Given the description of an element on the screen output the (x, y) to click on. 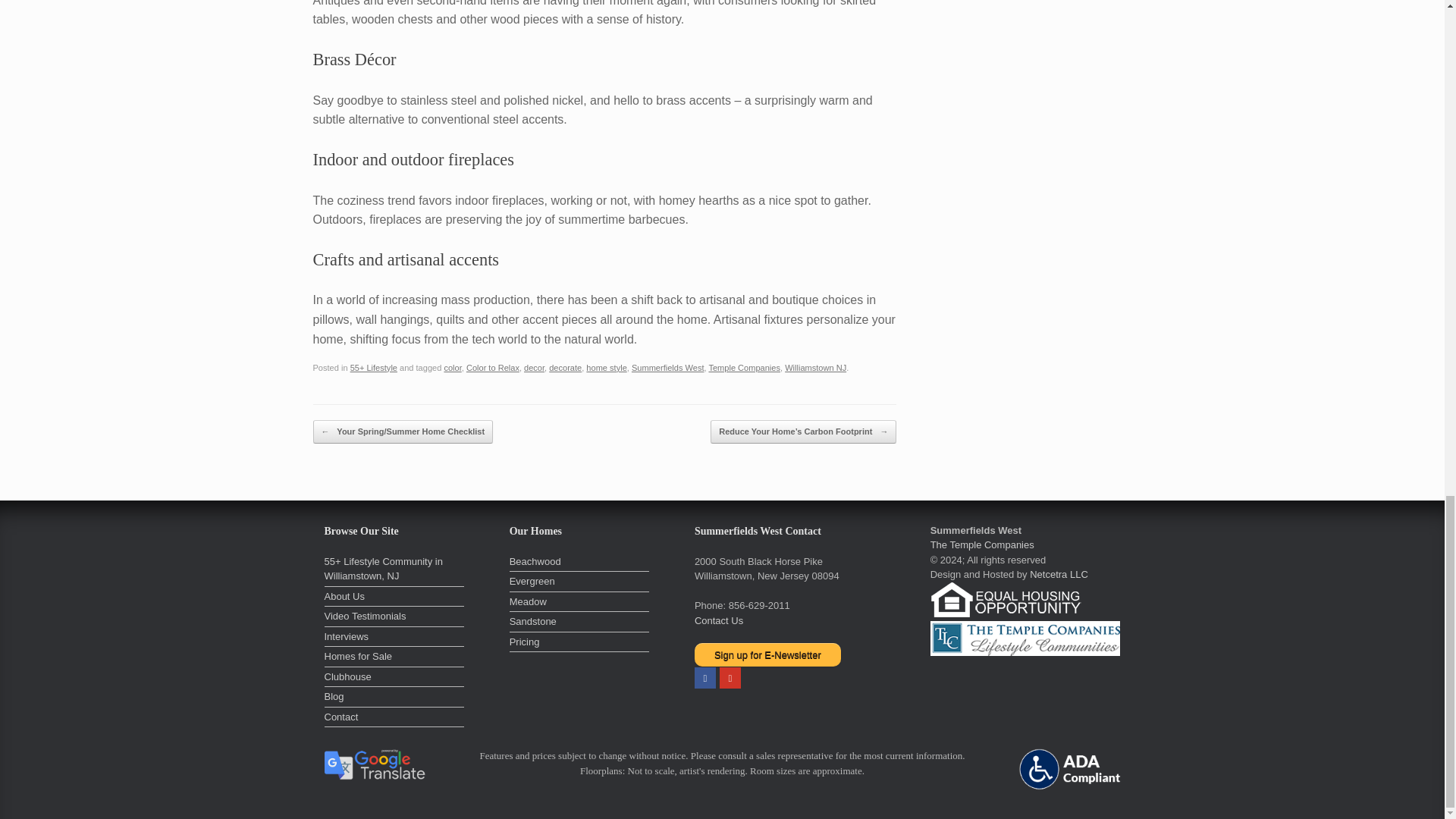
color (452, 367)
Williamstown NJ (814, 367)
Summerfields West on Facebook (705, 677)
Summerfields West (667, 367)
Summerfields West on Youtube (730, 677)
Color to Relax (492, 367)
decor (534, 367)
home style (606, 367)
Temple Companies (743, 367)
decorate (564, 367)
